Given the description of an element on the screen output the (x, y) to click on. 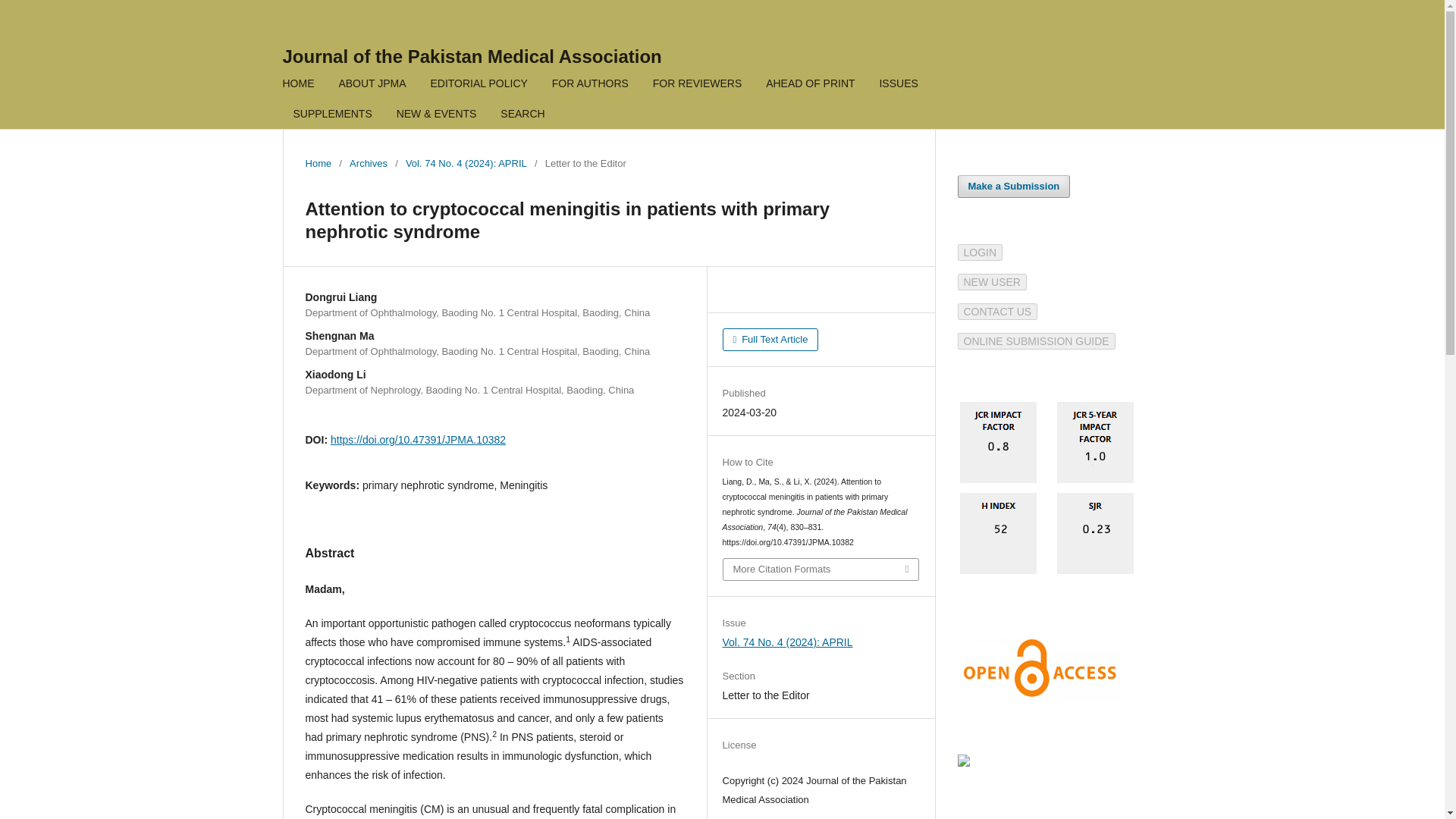
LOGIN (979, 252)
EDITORIAL POLICY (478, 85)
Contect Us (996, 311)
FOR REVIEWERS (696, 85)
ABOUT JPMA (371, 85)
ISSUES (898, 85)
AHEAD OF PRINT (810, 85)
FOR AUTHORS (590, 85)
ONLINE SUBMISSION GUIDE (1035, 340)
Journal of the Pakistan Medical Association (471, 56)
